Given the description of an element on the screen output the (x, y) to click on. 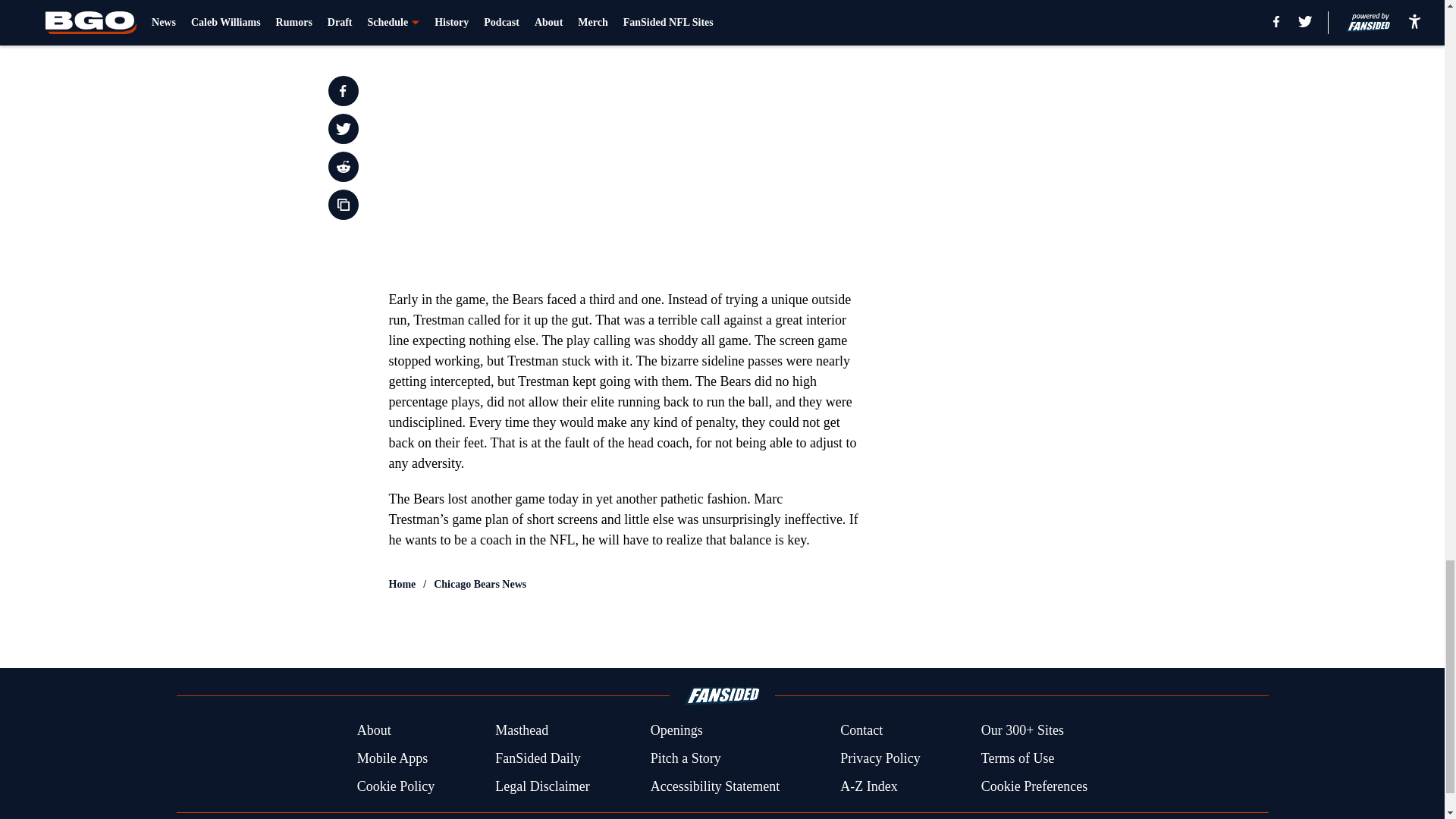
Pitch a Story (685, 758)
FanSided Daily (537, 758)
Contact (861, 730)
Mobile Apps (392, 758)
Chicago Bears News (479, 584)
About (373, 730)
Masthead (521, 730)
Openings (676, 730)
Home (401, 584)
